Given the description of an element on the screen output the (x, y) to click on. 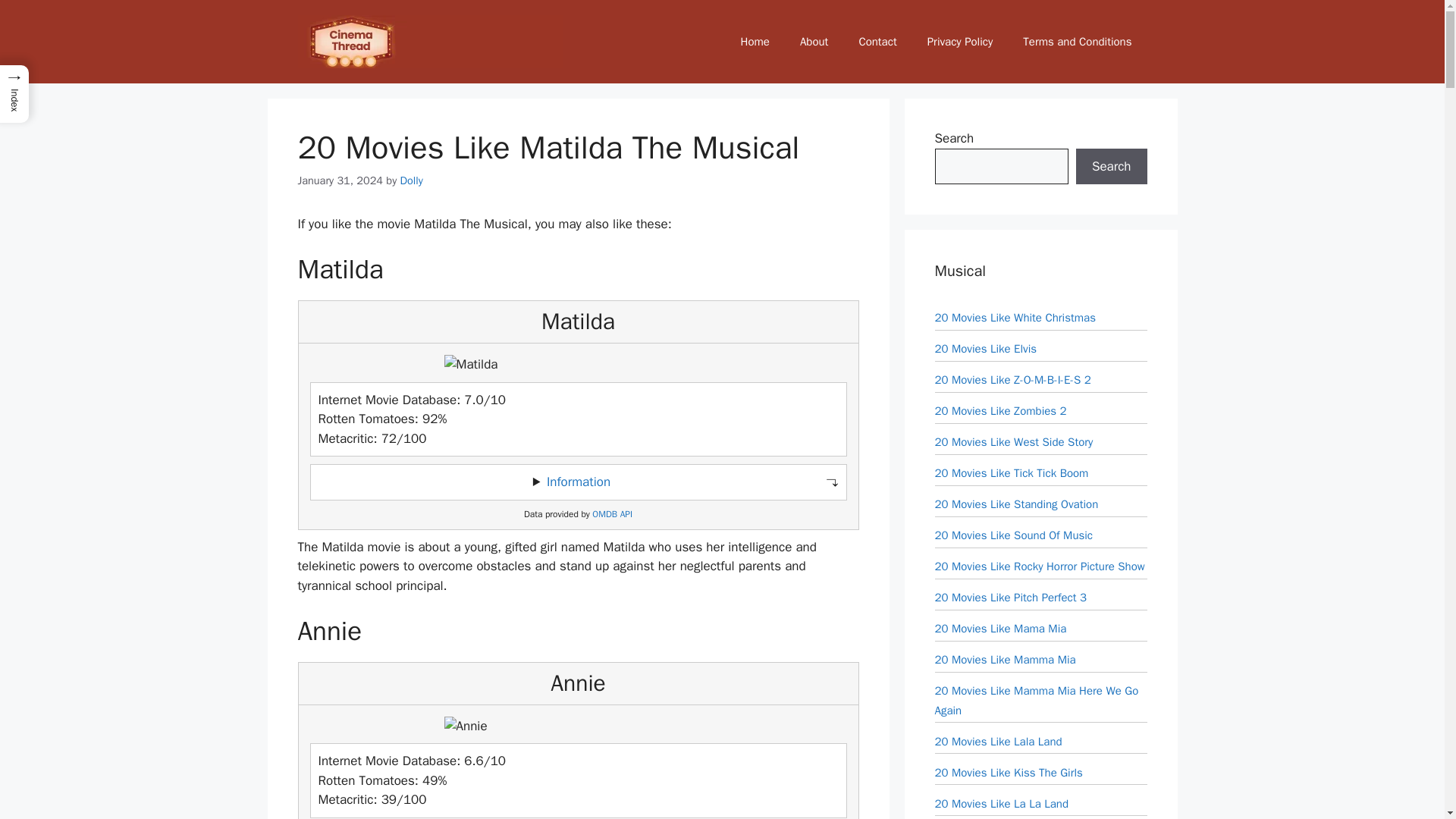
OMDB API (611, 514)
Dolly (411, 180)
Information (578, 481)
Open Movie Database API (611, 514)
About (813, 41)
Contact (877, 41)
Toggle information (578, 482)
Home (754, 41)
Terms and Conditions (1077, 41)
View all posts by Dolly (411, 180)
